Given the description of an element on the screen output the (x, y) to click on. 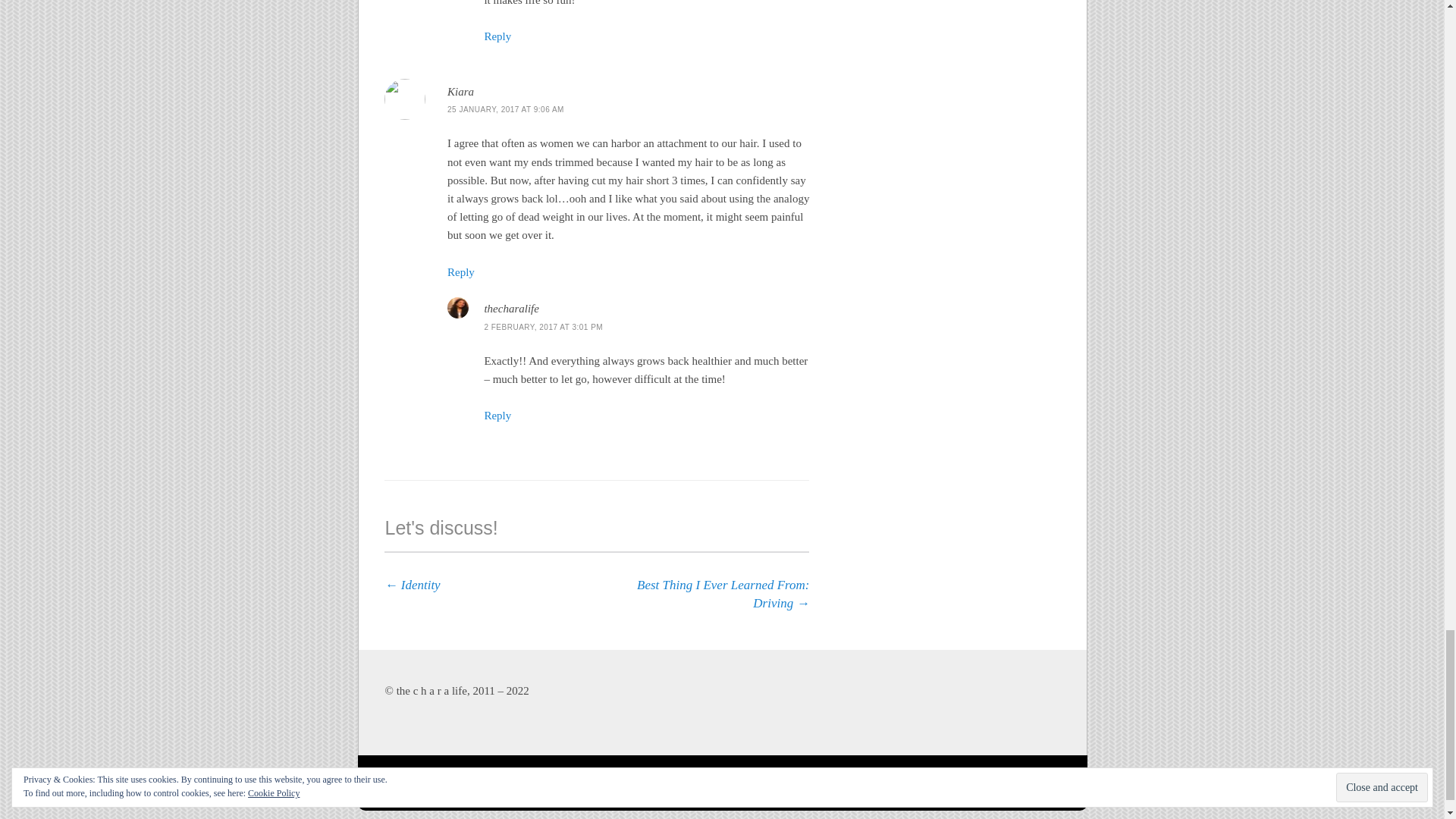
Reply (497, 415)
A Semantic Personal Publishing Platform (639, 782)
Reply (497, 36)
25 JANUARY, 2017 AT 9:06 AM (505, 109)
Reply (460, 272)
2 FEBRUARY, 2017 AT 3:01 PM (542, 326)
